Given the description of an element on the screen output the (x, y) to click on. 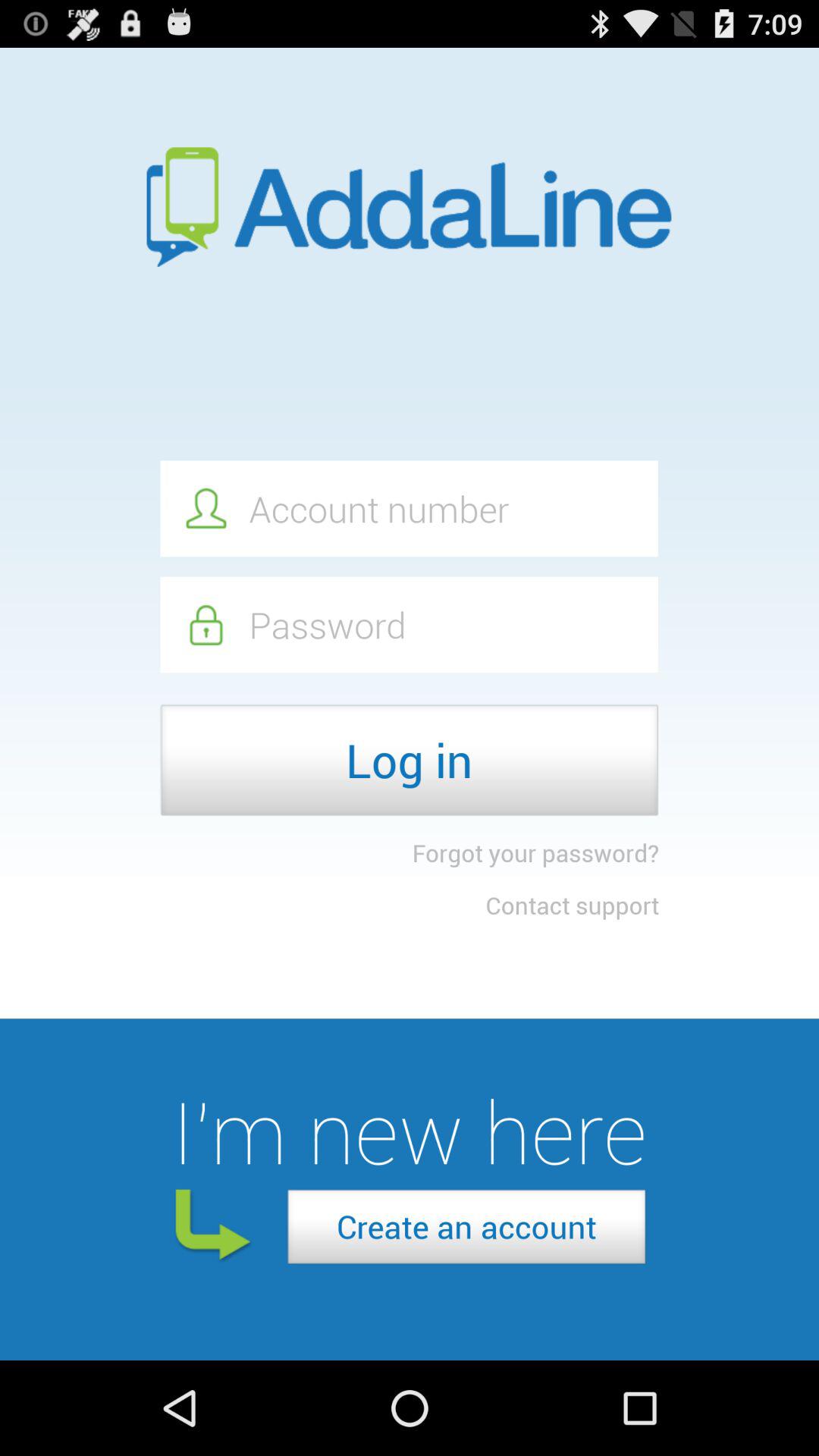
type in password (409, 624)
